Given the description of an element on the screen output the (x, y) to click on. 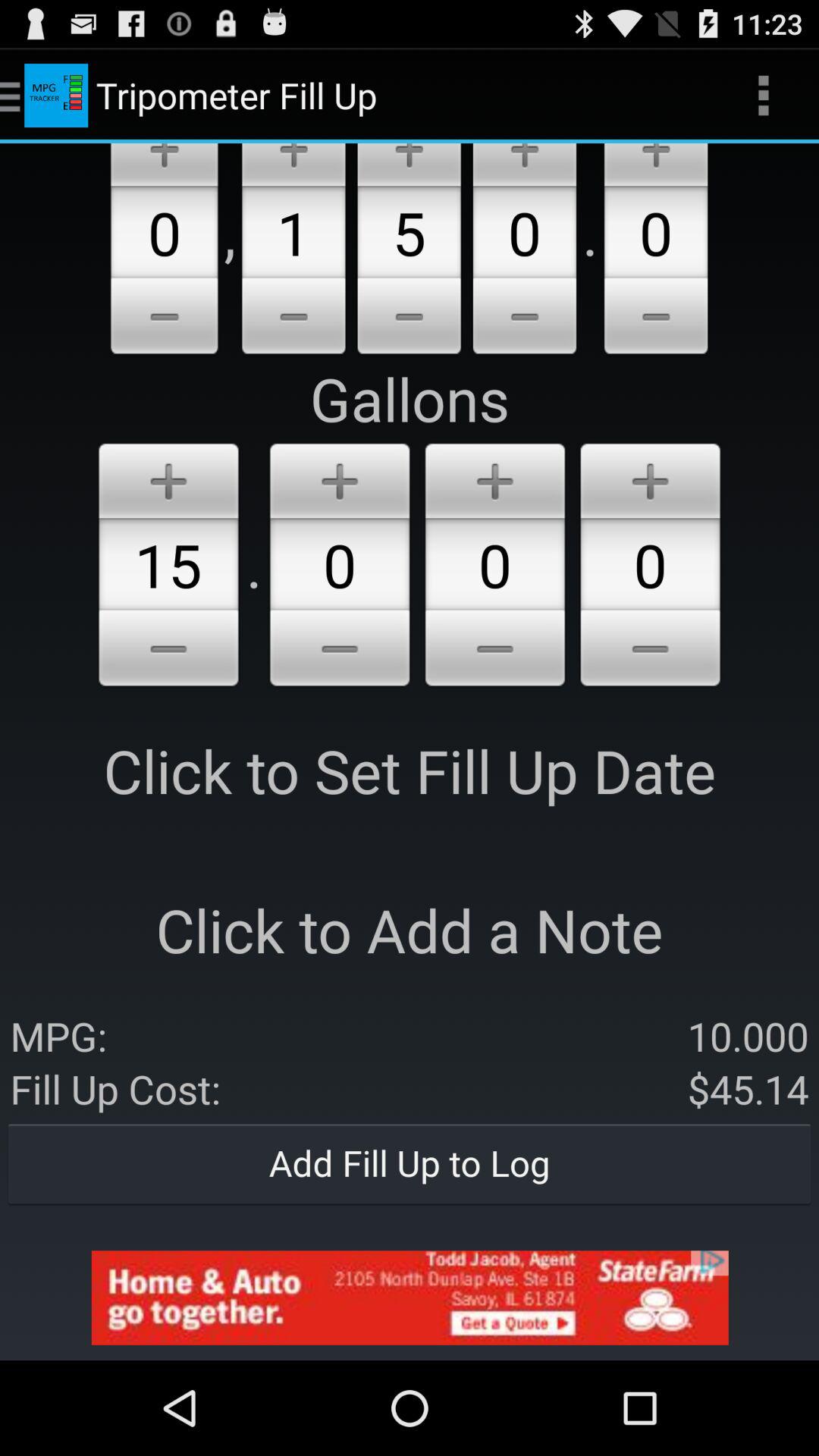
increase value (524, 164)
